Given the description of an element on the screen output the (x, y) to click on. 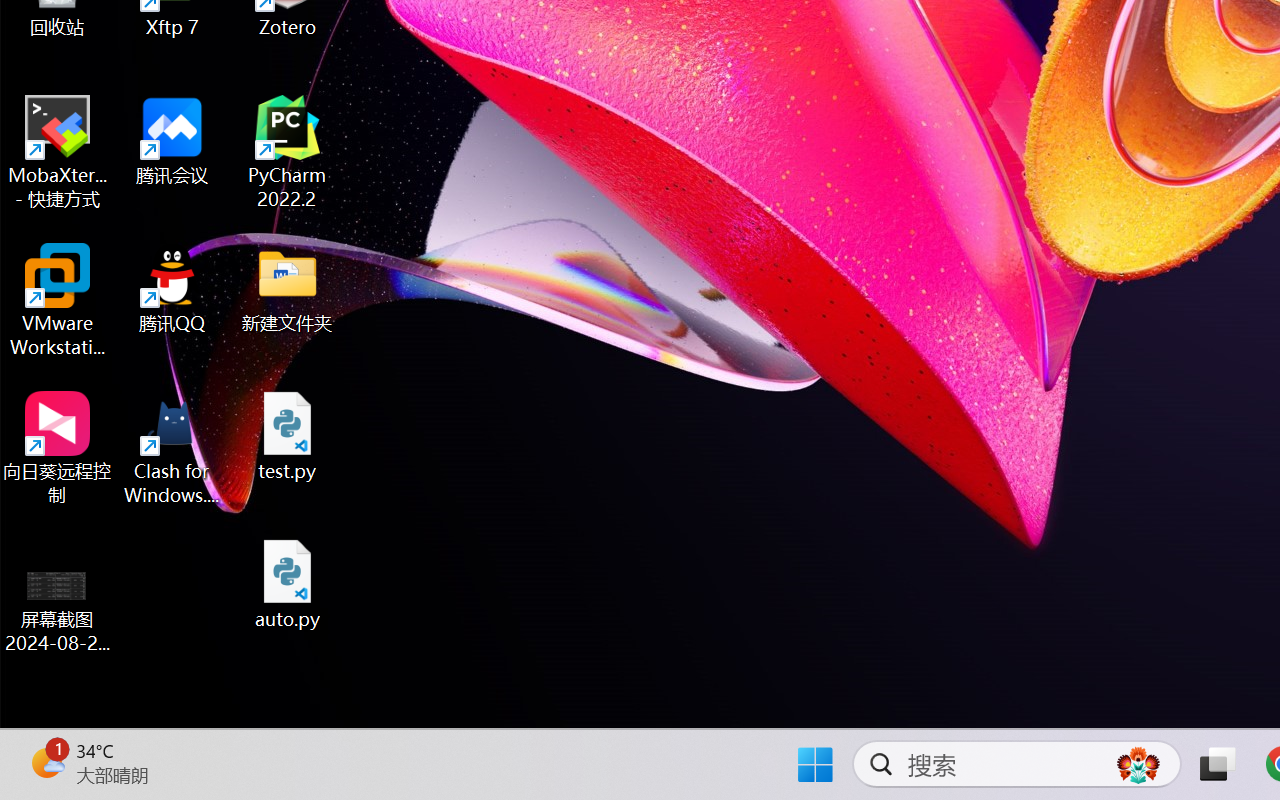
test.py (287, 436)
VMware Workstation Pro (57, 300)
